Given the description of an element on the screen output the (x, y) to click on. 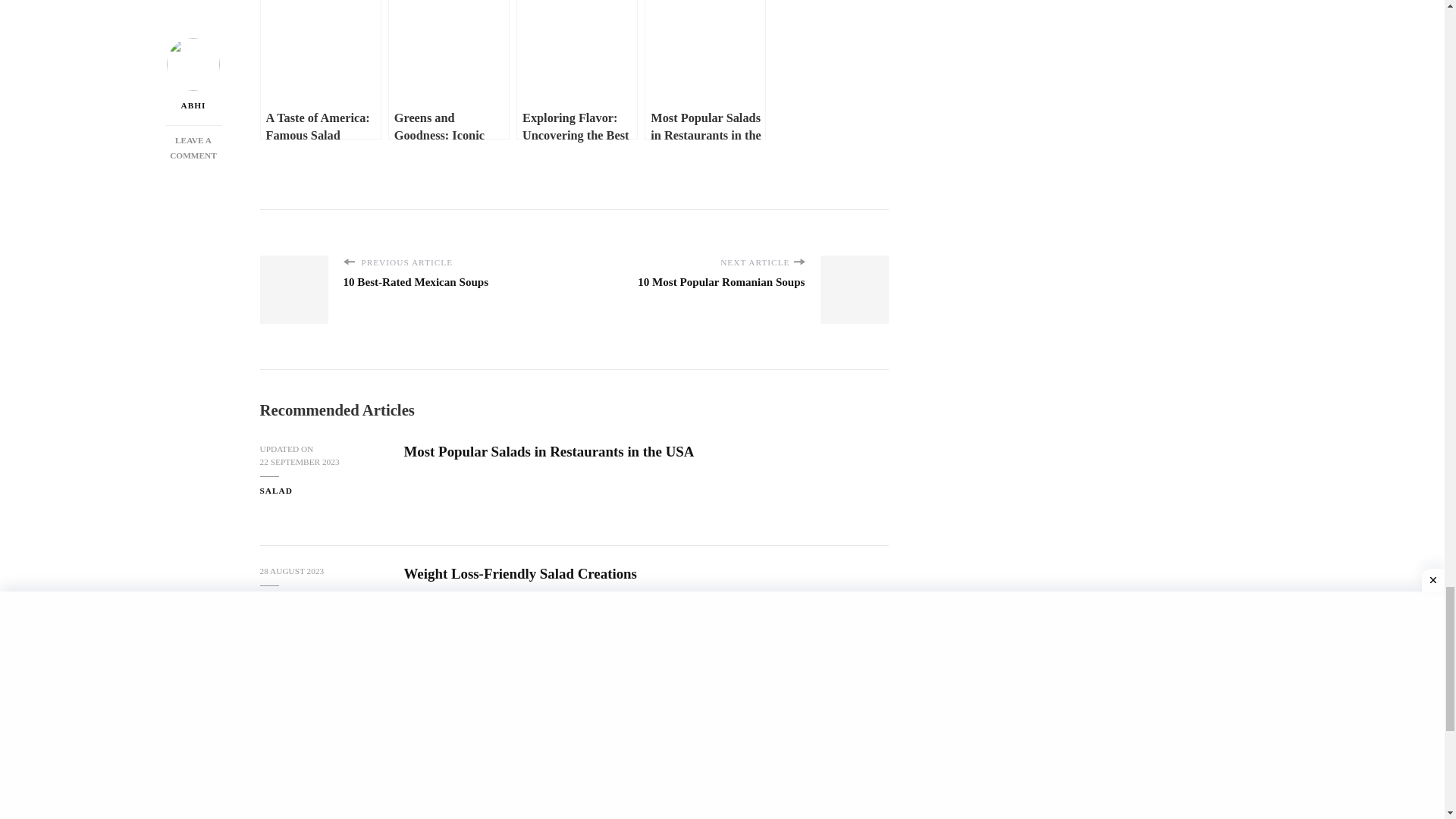
A Taste of America: Famous Salad Selections (540, 695)
SALAD (275, 599)
SALAD (275, 490)
28 AUGUST 2023 (450, 289)
Weight Loss-Friendly Salad Creations (697, 289)
Most Popular Salads in Restaurants in the USA (291, 571)
SALAD (519, 573)
28 AUGUST 2023 (548, 451)
22 SEPTEMBER 2023 (275, 721)
